Given the description of an element on the screen output the (x, y) to click on. 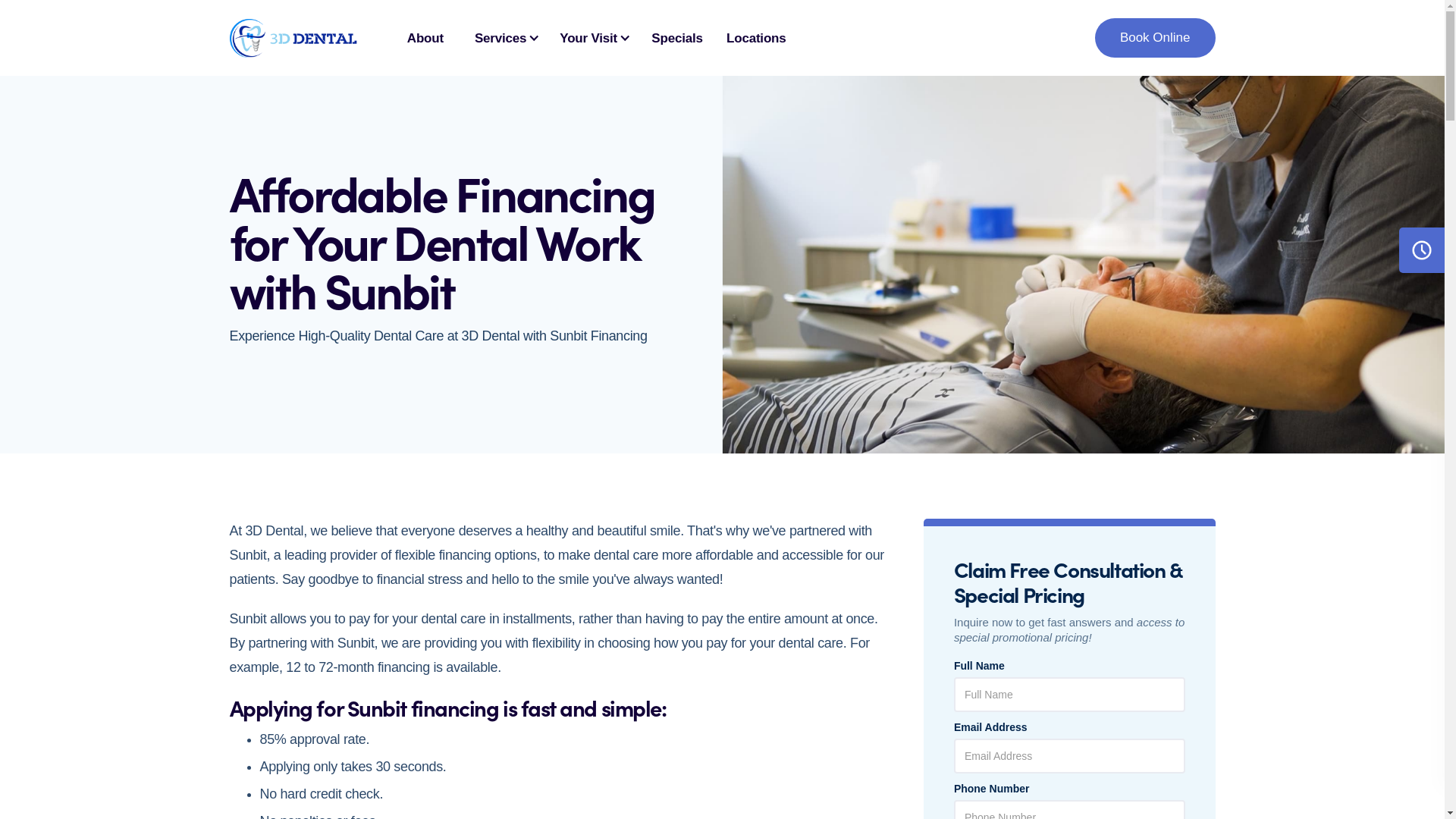
Book Online Element type: text (1155, 37)
About Element type: text (425, 37)
Specials Element type: text (677, 37)
Locations Element type: text (756, 37)
